Given the description of an element on the screen output the (x, y) to click on. 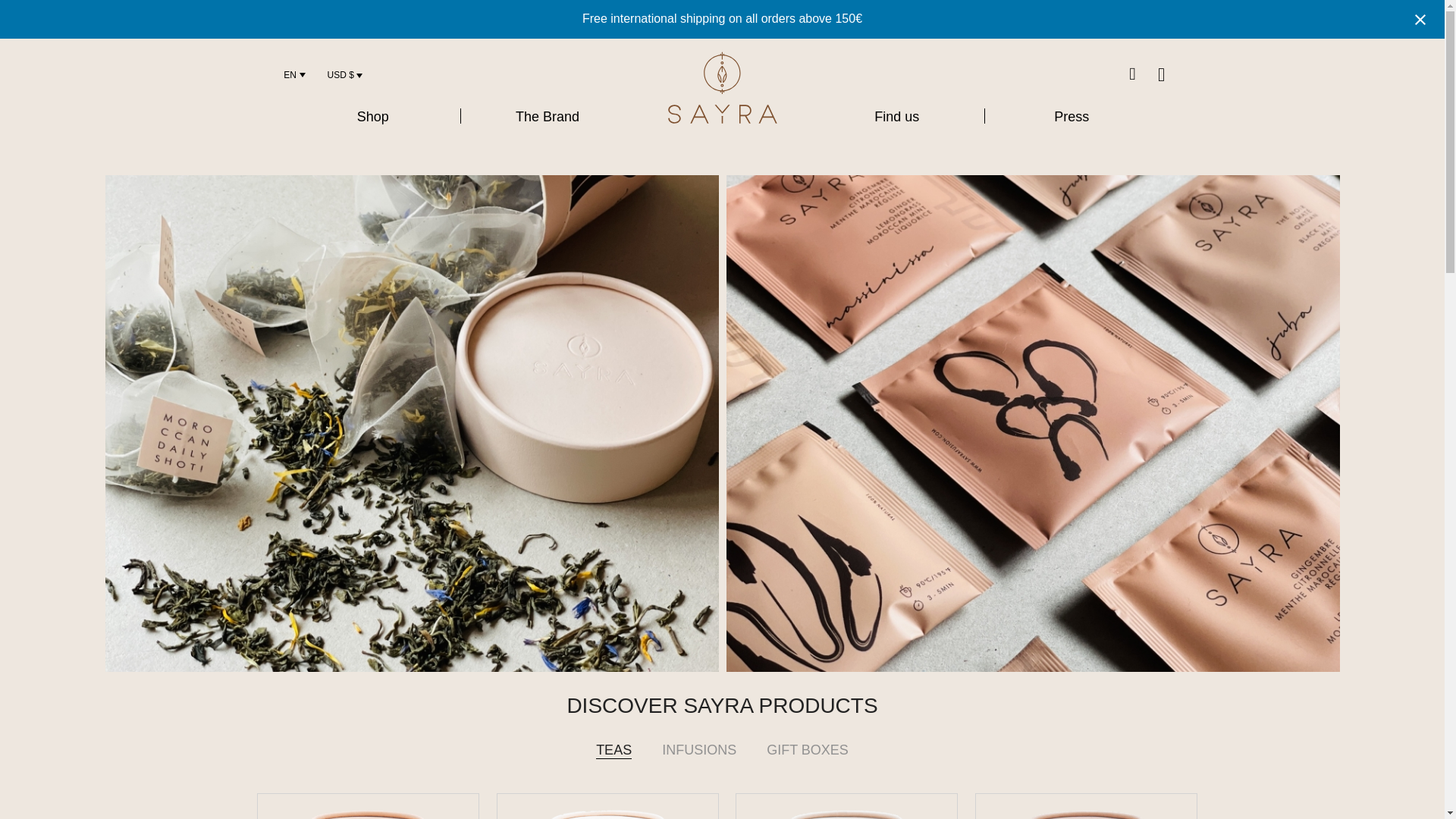
Find us (896, 116)
Press (1071, 116)
The Brand (547, 116)
INFUSIONS (698, 753)
GIFT BOXES (807, 753)
SVG Image (722, 87)
EN (289, 74)
Shop (372, 116)
TEAS (613, 754)
